Given the description of an element on the screen output the (x, y) to click on. 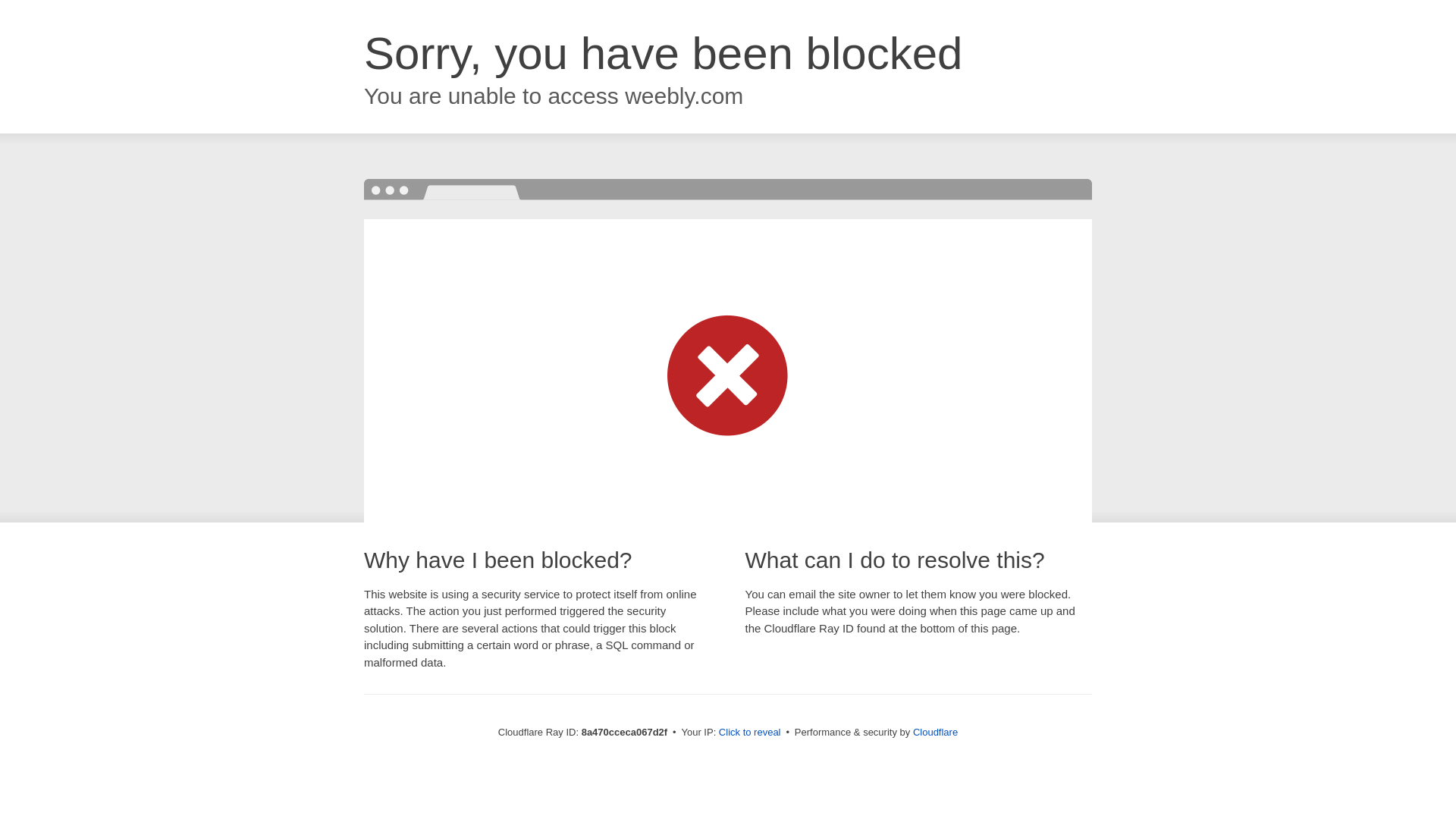
Click to reveal (749, 732)
Cloudflare (935, 731)
